Given the description of an element on the screen output the (x, y) to click on. 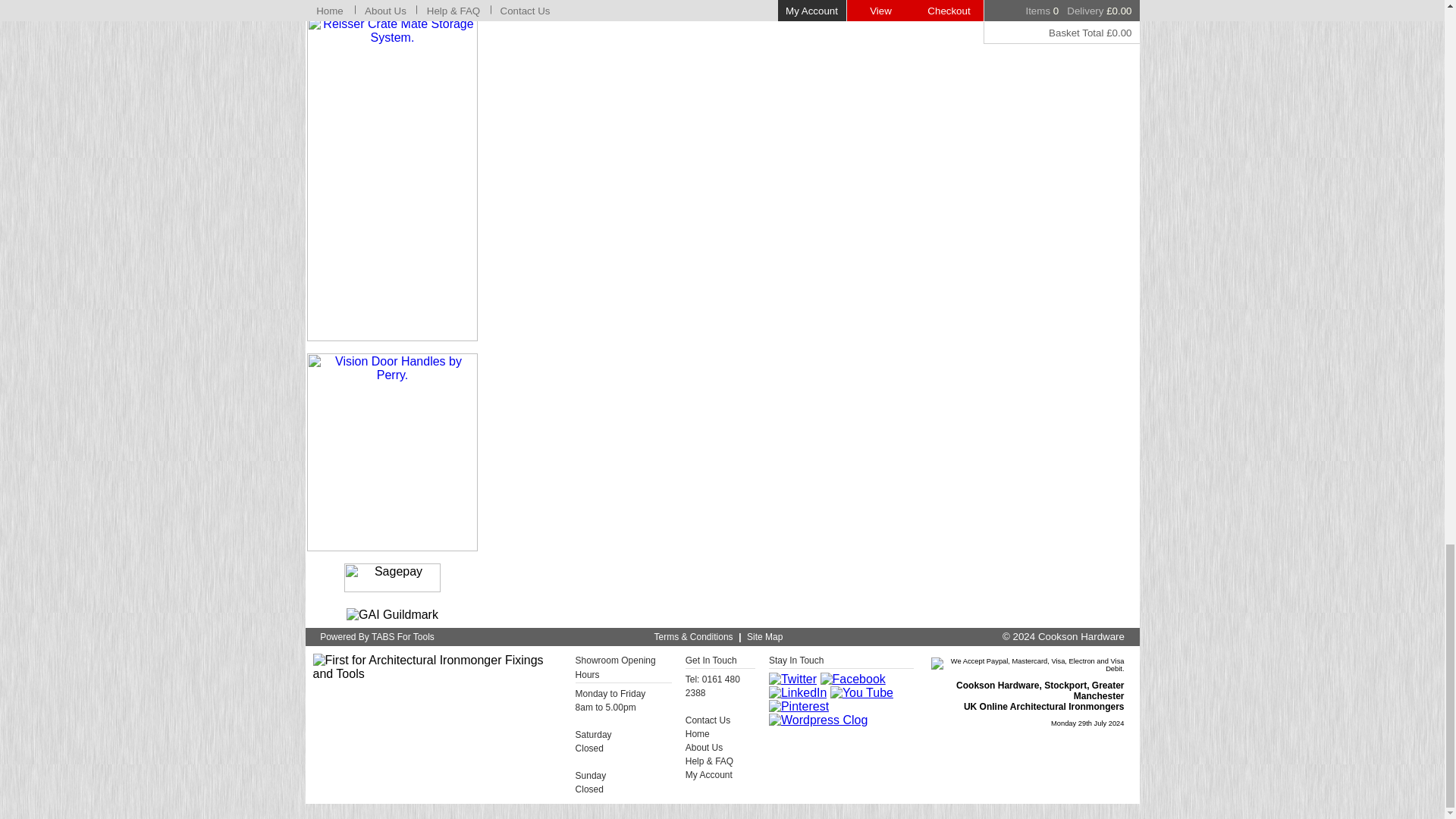
Securefast Digital Code Locks. (392, 2)
Sagepay (392, 577)
